Given the description of an element on the screen output the (x, y) to click on. 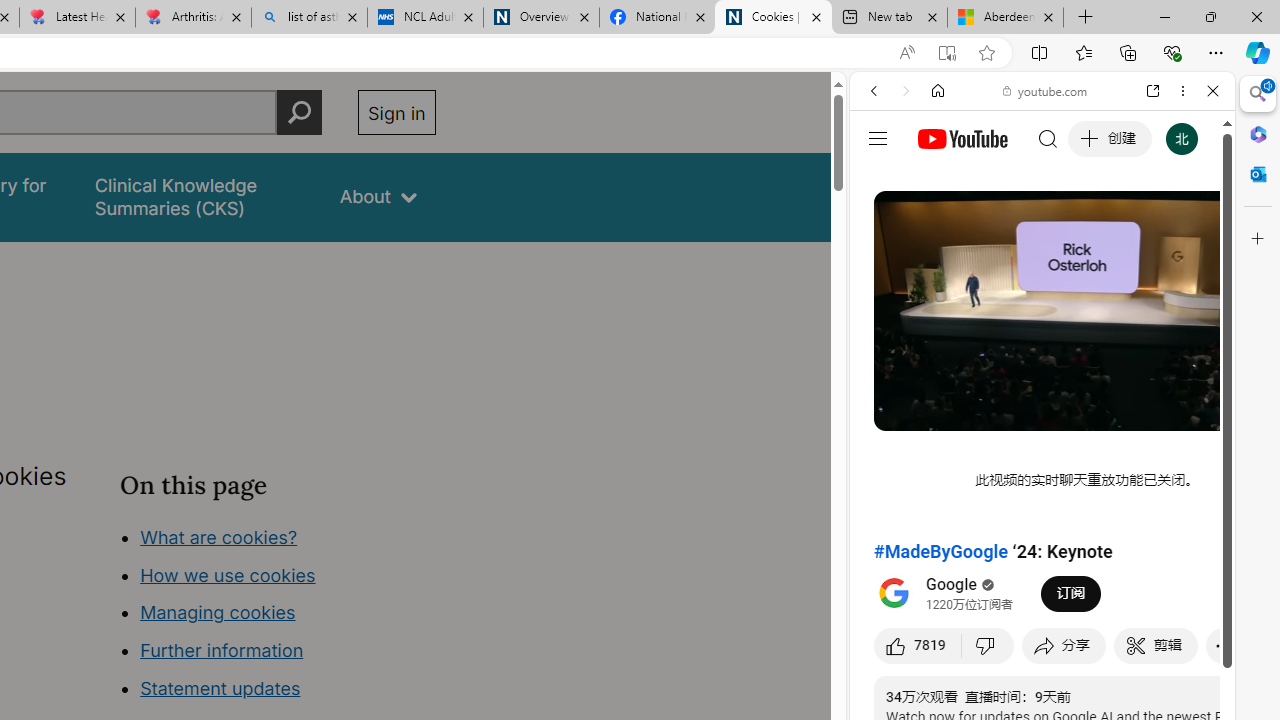
Search Filter, Search Tools (1093, 228)
Google (952, 584)
Managing cookies (217, 612)
This site scope (936, 180)
Preferences (1189, 228)
VIDEOS (1006, 228)
Forward (906, 91)
#you (1042, 445)
Cookies | About | NICE (772, 17)
